Given the description of an element on the screen output the (x, y) to click on. 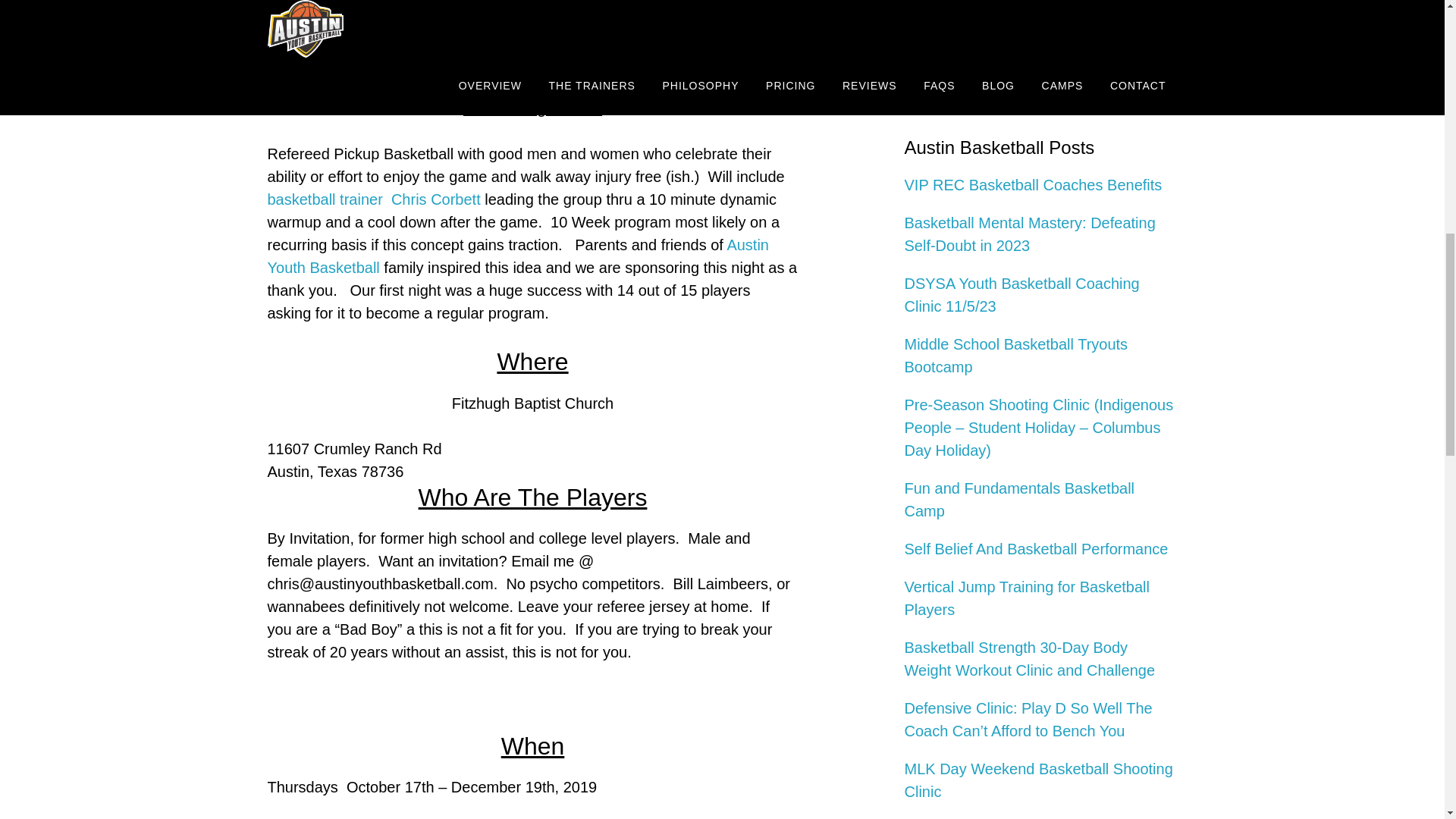
basketball trainer  Chris Corbett  (375, 199)
Middle School Basketball Tryouts Bootcamp (1015, 355)
Austin Youth Basketball (517, 256)
VIP REC Basketball Coaches Benefits (1032, 184)
Fun and Fundamentals Basketball Camp (1019, 499)
Basketball Mental Mastery: Defeating Self-Doubt in 2023 (1029, 233)
MLK Day Weekend Basketball Shooting Clinic (1038, 780)
Self Belief And Basketball Performance (1035, 548)
Vertical Jump Training for Basketball Players (1027, 598)
